Given the description of an element on the screen output the (x, y) to click on. 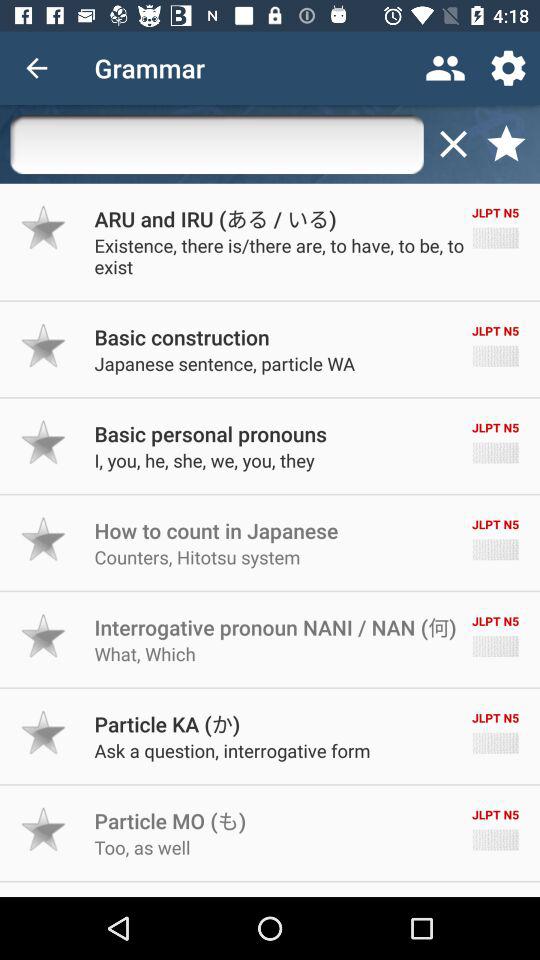
toggle favorite (44, 732)
